Given the description of an element on the screen output the (x, y) to click on. 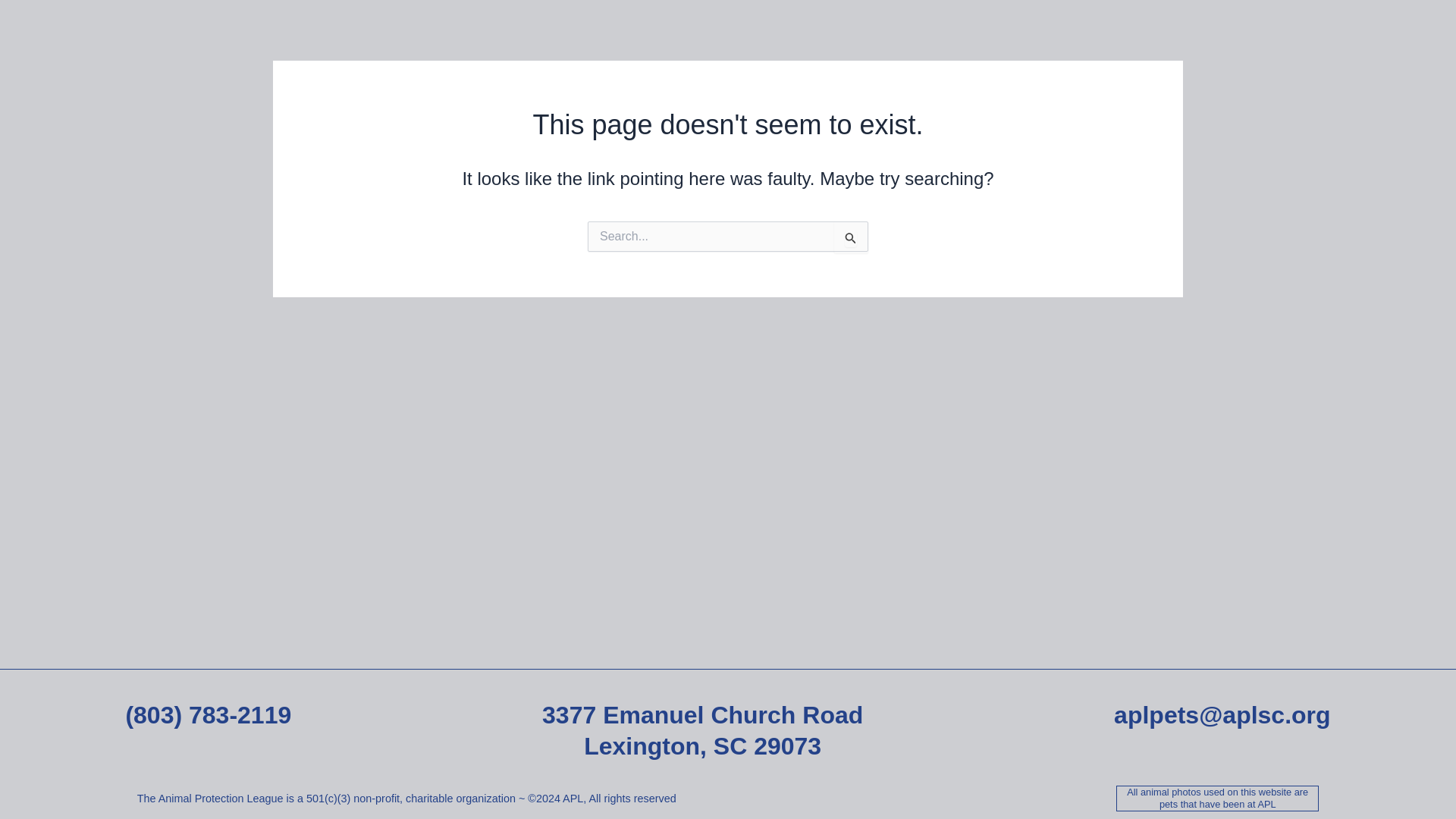
Search (850, 237)
Search (850, 237)
Search (850, 237)
